Given the description of an element on the screen output the (x, y) to click on. 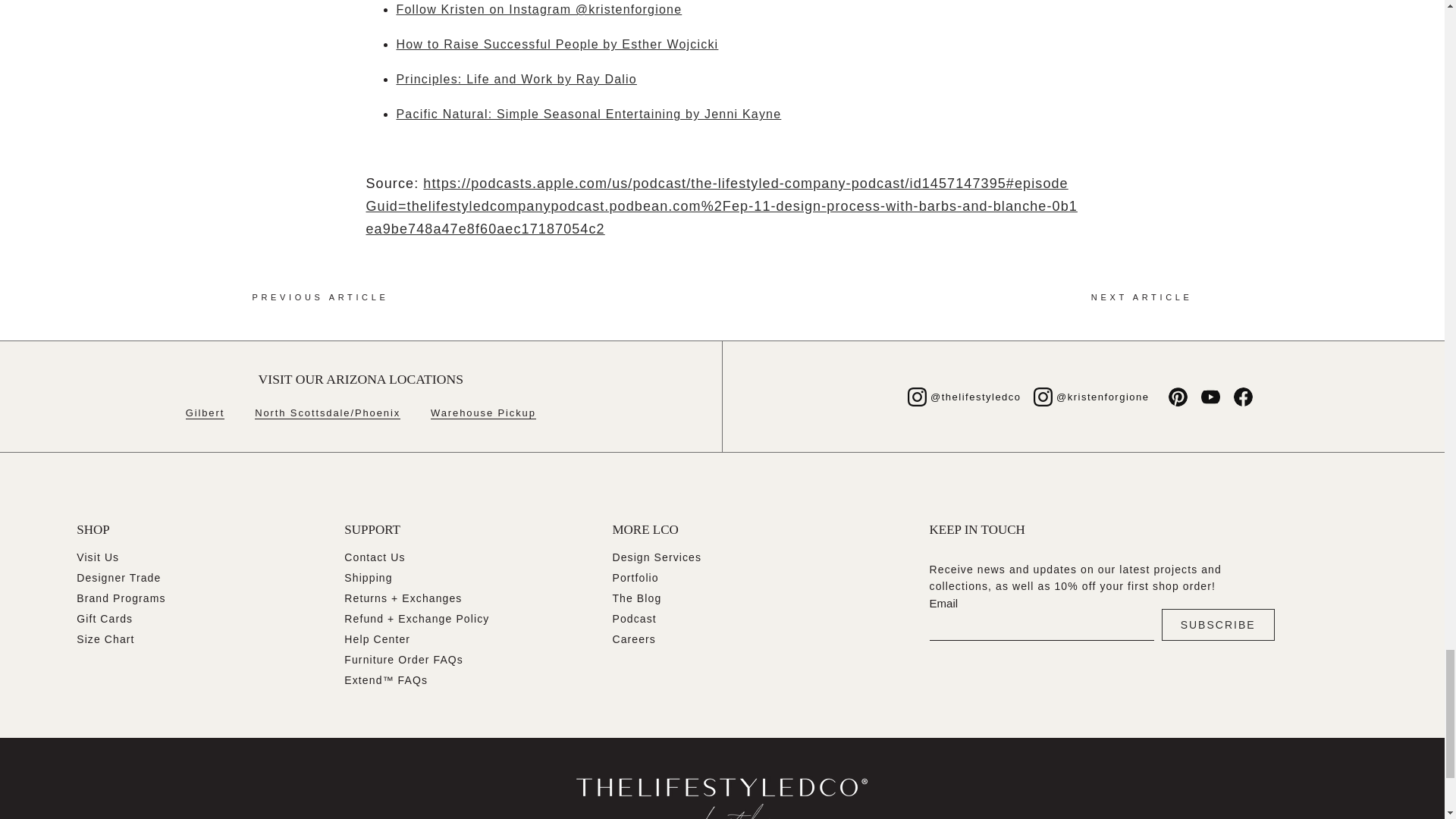
Pinterest (1176, 396)
YouTube (1210, 396)
Facebook (1242, 396)
